Given the description of an element on the screen output the (x, y) to click on. 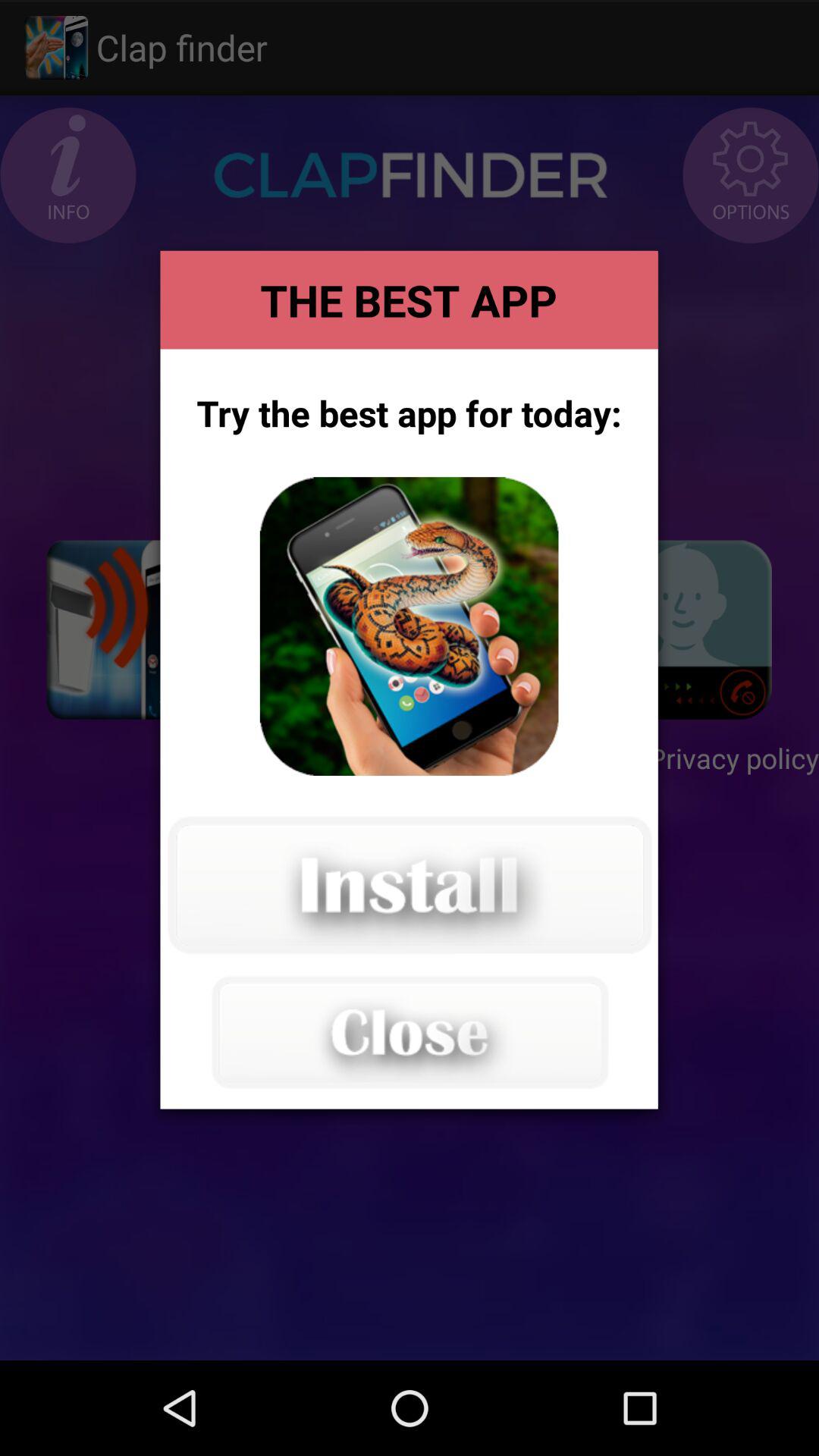
press icon below try the best (408, 626)
